Given the description of an element on the screen output the (x, y) to click on. 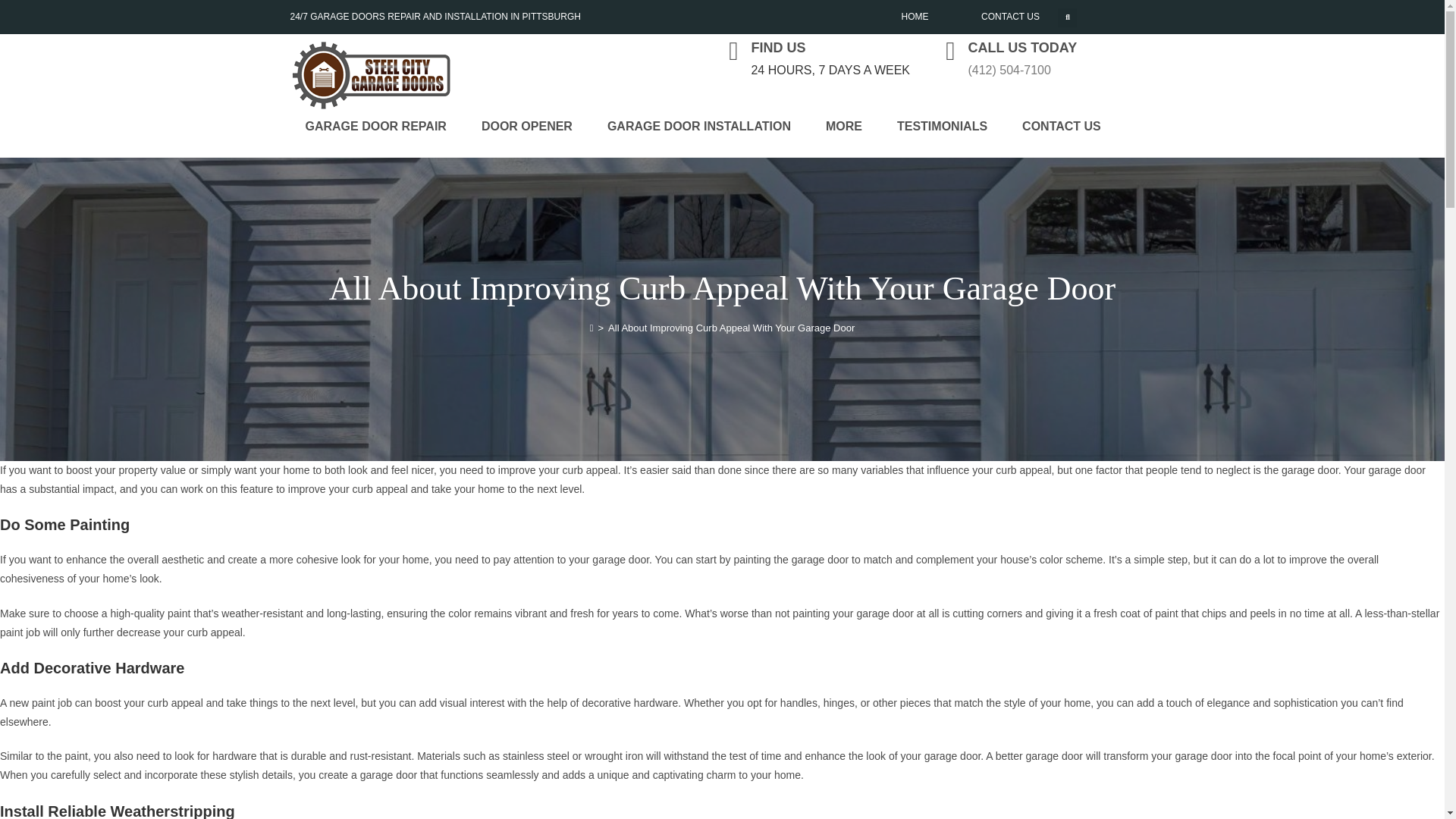
CONTACT US (1010, 16)
CONTACT US (1061, 126)
DOOR OPENER (526, 126)
GARAGE DOOR REPAIR (375, 126)
FIND US (778, 47)
TESTIMONIALS (942, 126)
MORE (843, 126)
24 HOURS, 7 DAYS A WEEK (830, 69)
CALL US TODAY (1022, 47)
GARAGE DOOR INSTALLATION (699, 126)
